Given the description of an element on the screen output the (x, y) to click on. 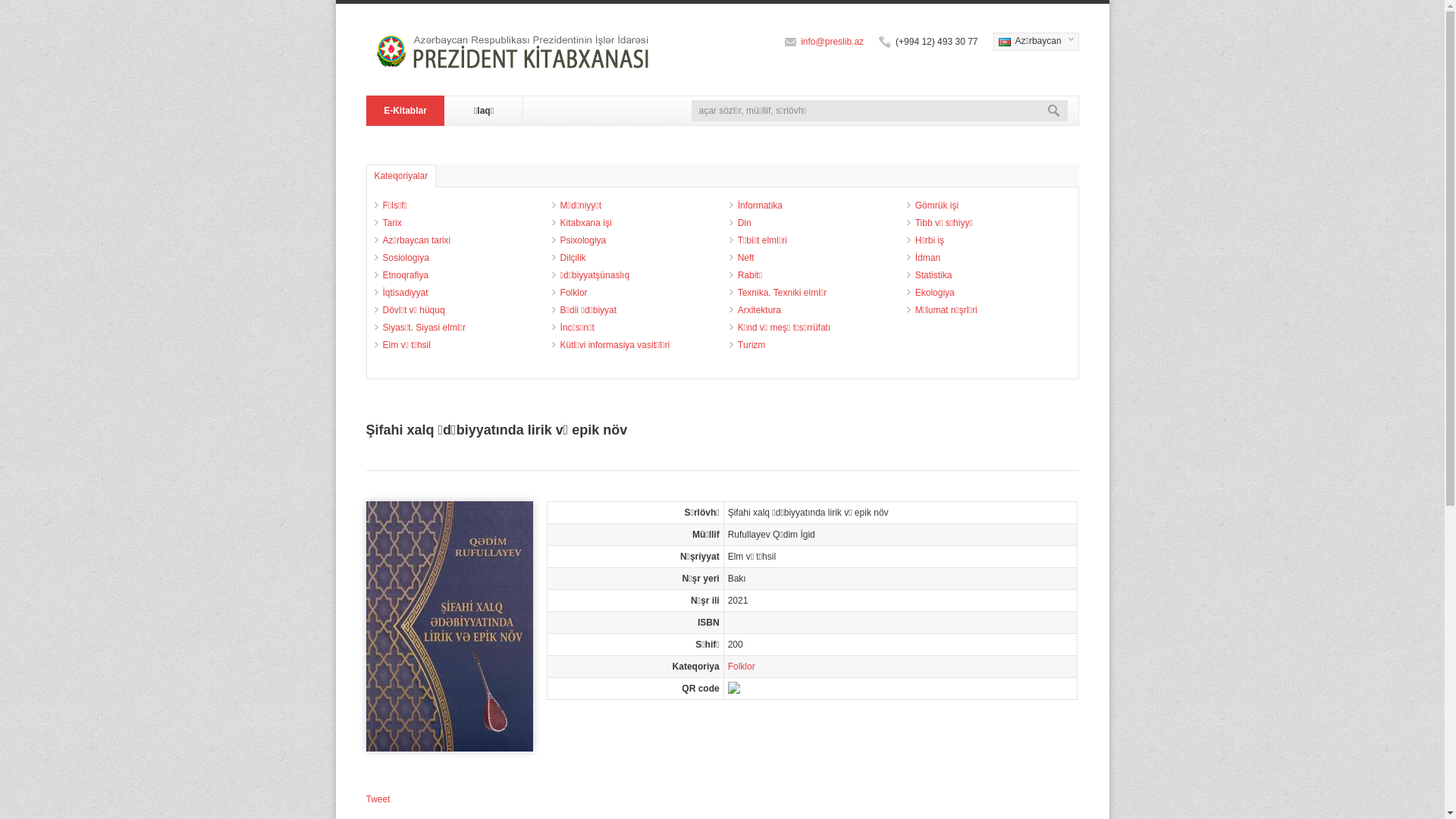
Ekologiya Element type: text (934, 292)
Din Element type: text (744, 222)
E-Kitablar Element type: text (404, 110)
Statistika Element type: text (933, 274)
Psixologiya Element type: text (583, 240)
Etnoqrafiya Element type: text (405, 274)
info@preslib.az Element type: text (831, 41)
Search Element type: text (1053, 110)
Sosiologiya Element type: text (405, 257)
Kateqoriyalar Element type: text (400, 175)
Folklor Element type: text (741, 666)
Tarix Element type: text (391, 222)
Neft Element type: text (745, 257)
Tweet Element type: text (377, 798)
Arxitektura Element type: text (759, 309)
Folklor Element type: text (573, 292)
